Given the description of an element on the screen output the (x, y) to click on. 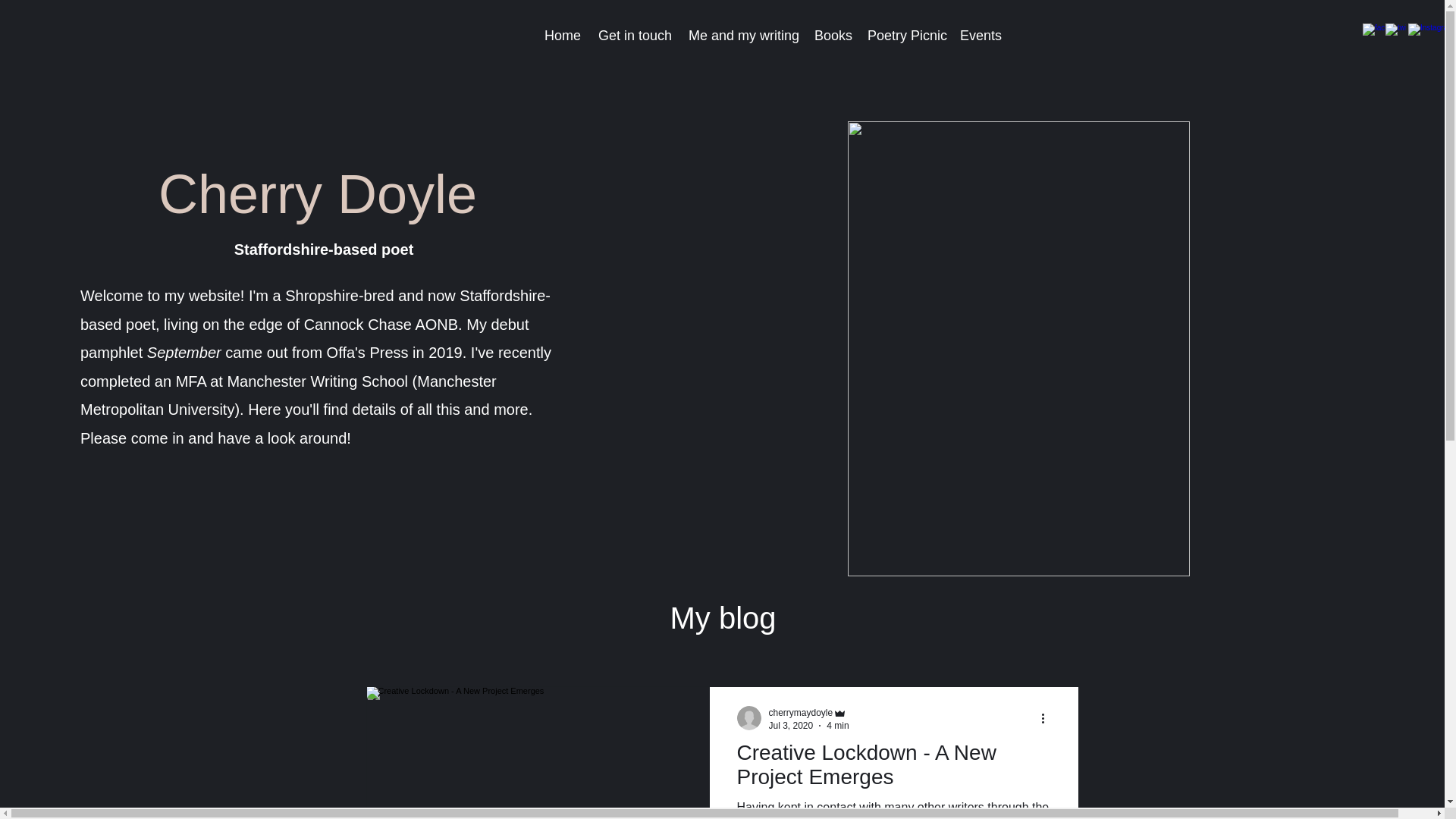
Events (979, 35)
Jul 3, 2020 (790, 725)
4 min (837, 725)
Get in touch (633, 35)
Home (561, 35)
Books (833, 35)
cherrymaydoyle (800, 712)
Creative Lockdown - A New Project Emerges (893, 769)
Poetry Picnic (906, 35)
Me and my writing (742, 35)
